Given the description of an element on the screen output the (x, y) to click on. 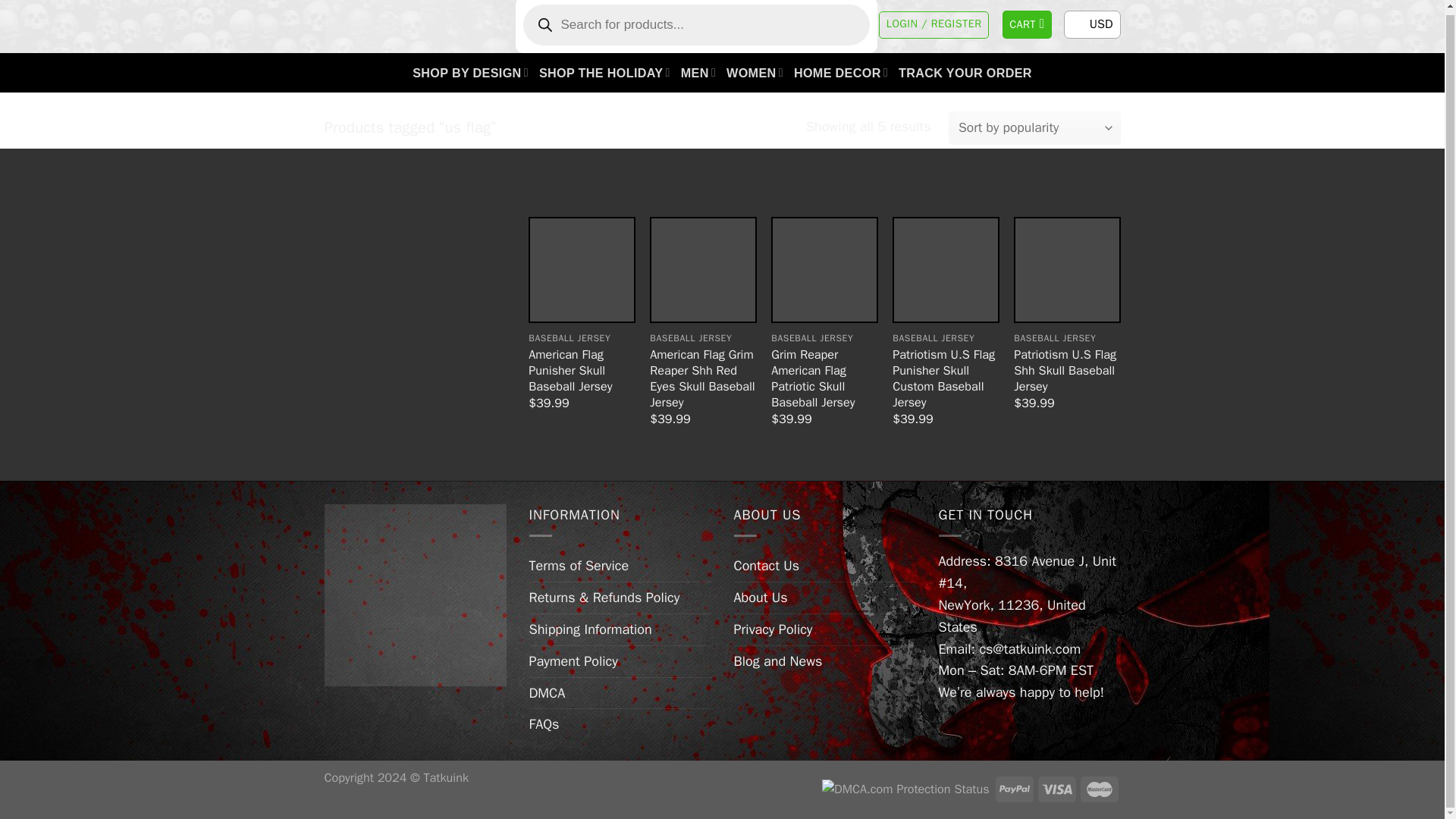
Patriotism U.S Flag Shh Skull Baseball Jersey (415, 595)
CART (1027, 24)
SHOP THE HOLIDAY (603, 72)
Cart (1027, 24)
WOMEN (754, 72)
Grim Reaper American Flag Patriotic Skull Baseball Jersey (824, 269)
TRACK YOUR ORDER (965, 72)
American Flag Grim Reaper Shh Red Eyes Skull Baseball Jersey (702, 269)
DMCA.com Protection Status (906, 788)
SHOP BY DESIGN (470, 72)
